Given the description of an element on the screen output the (x, y) to click on. 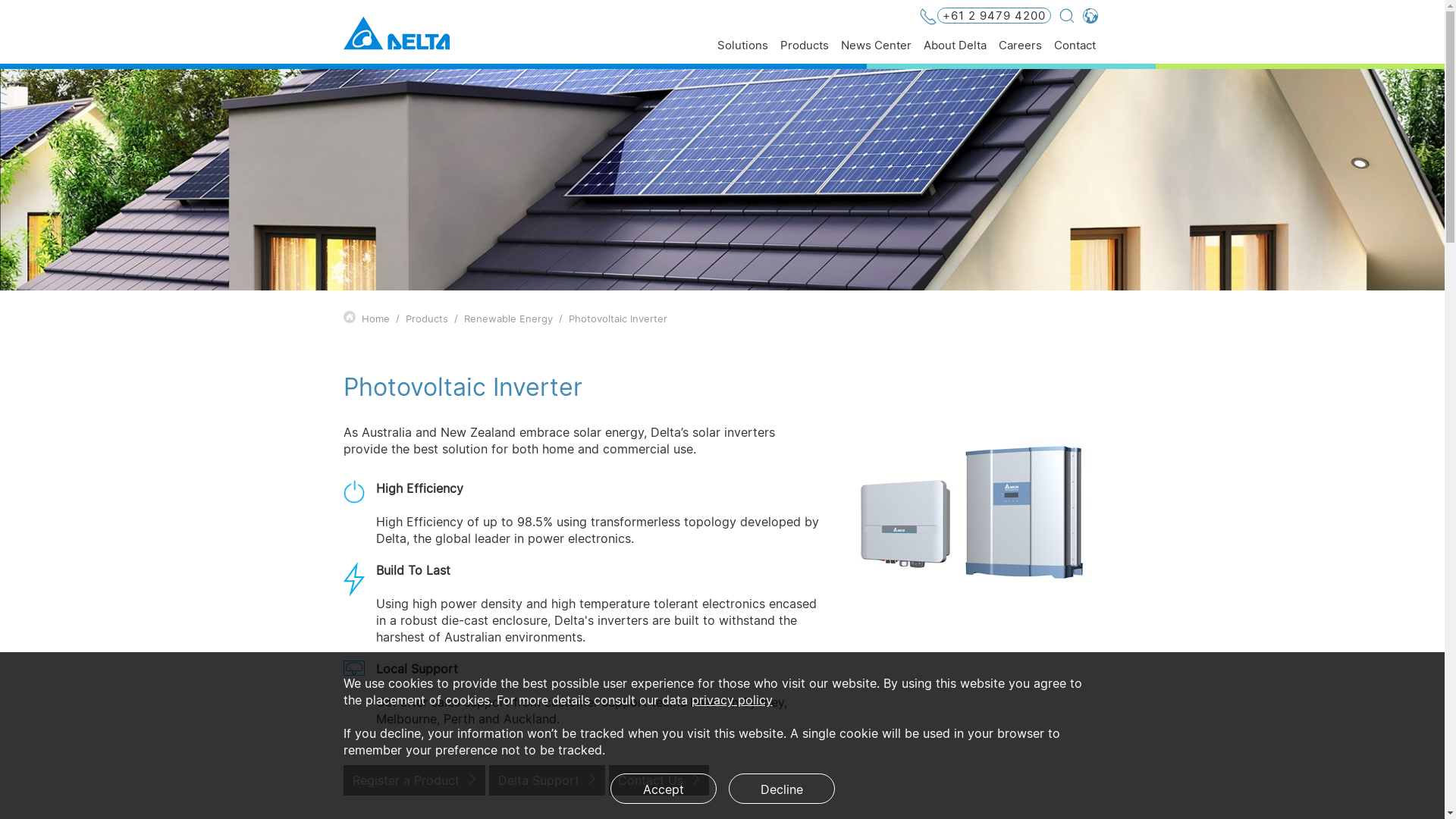
Photovoltaic Inverter Element type: text (617, 318)
About Delta Element type: text (954, 51)
+61 2 9479 4200 Element type: text (985, 16)
Delta Support Element type: text (546, 780)
News Center Element type: text (875, 51)
Solutions Element type: text (742, 51)
Renewable Energy Element type: text (508, 318)
Accept Element type: text (662, 788)
Decline Element type: text (781, 788)
Contact Element type: text (1074, 51)
Products Element type: text (425, 318)
Careers Element type: text (1019, 51)
Register a Product Element type: text (413, 780)
Contact Us Element type: text (658, 780)
Home Element type: text (374, 318)
privacy policy Element type: text (731, 699)
Products Element type: text (803, 51)
